Given the description of an element on the screen output the (x, y) to click on. 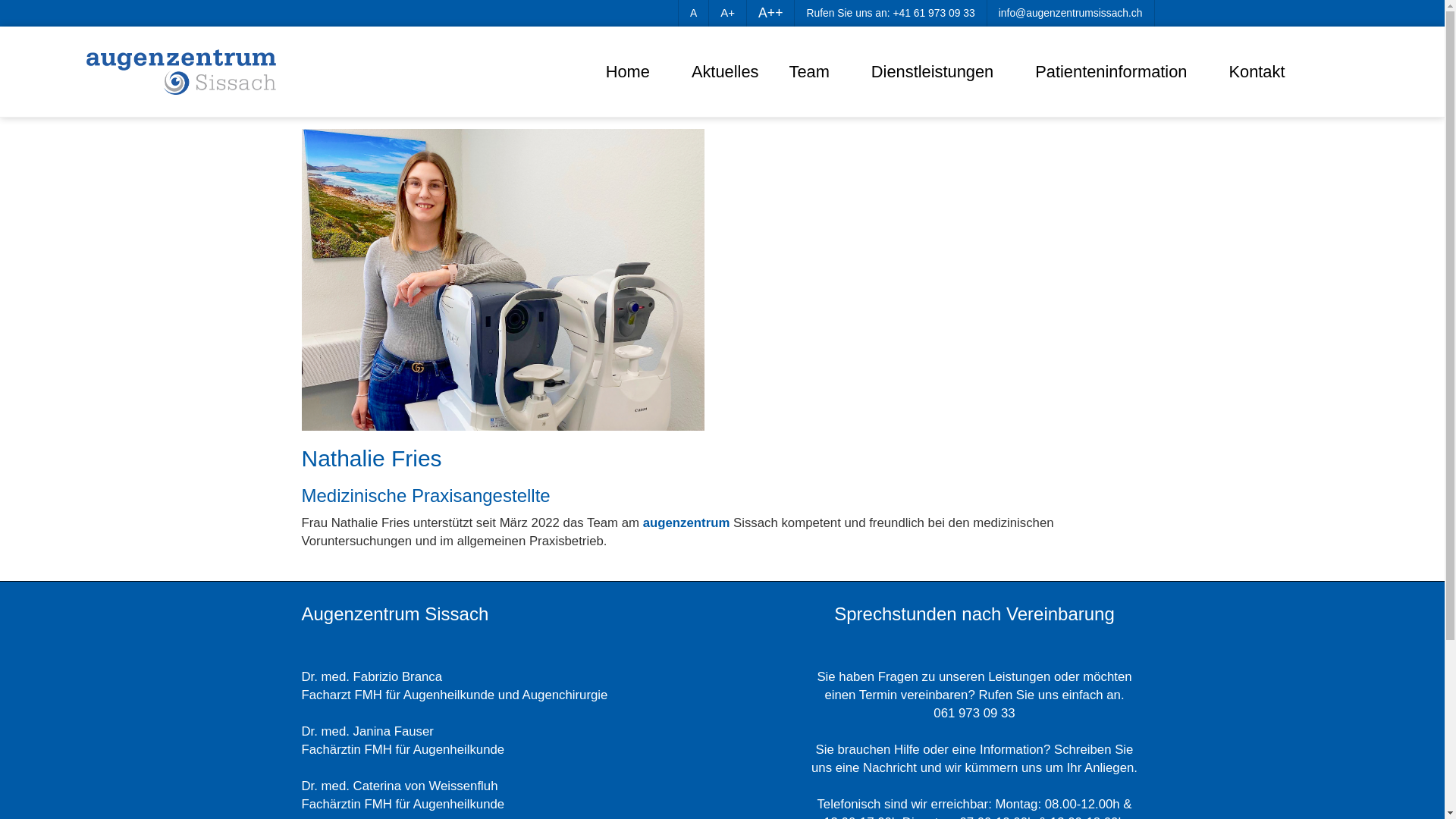
A Element type: text (693, 12)
Aktuelles Element type: text (725, 72)
Team Element type: text (814, 72)
A+ Element type: text (727, 12)
Home Element type: text (627, 72)
A++ Element type: text (770, 12)
Kontakt Element type: text (1256, 72)
Dienstleistungen Element type: text (937, 72)
Patienteninformation Element type: text (1116, 72)
info@augenzentrumsissach.ch Element type: text (1070, 12)
